Given the description of an element on the screen output the (x, y) to click on. 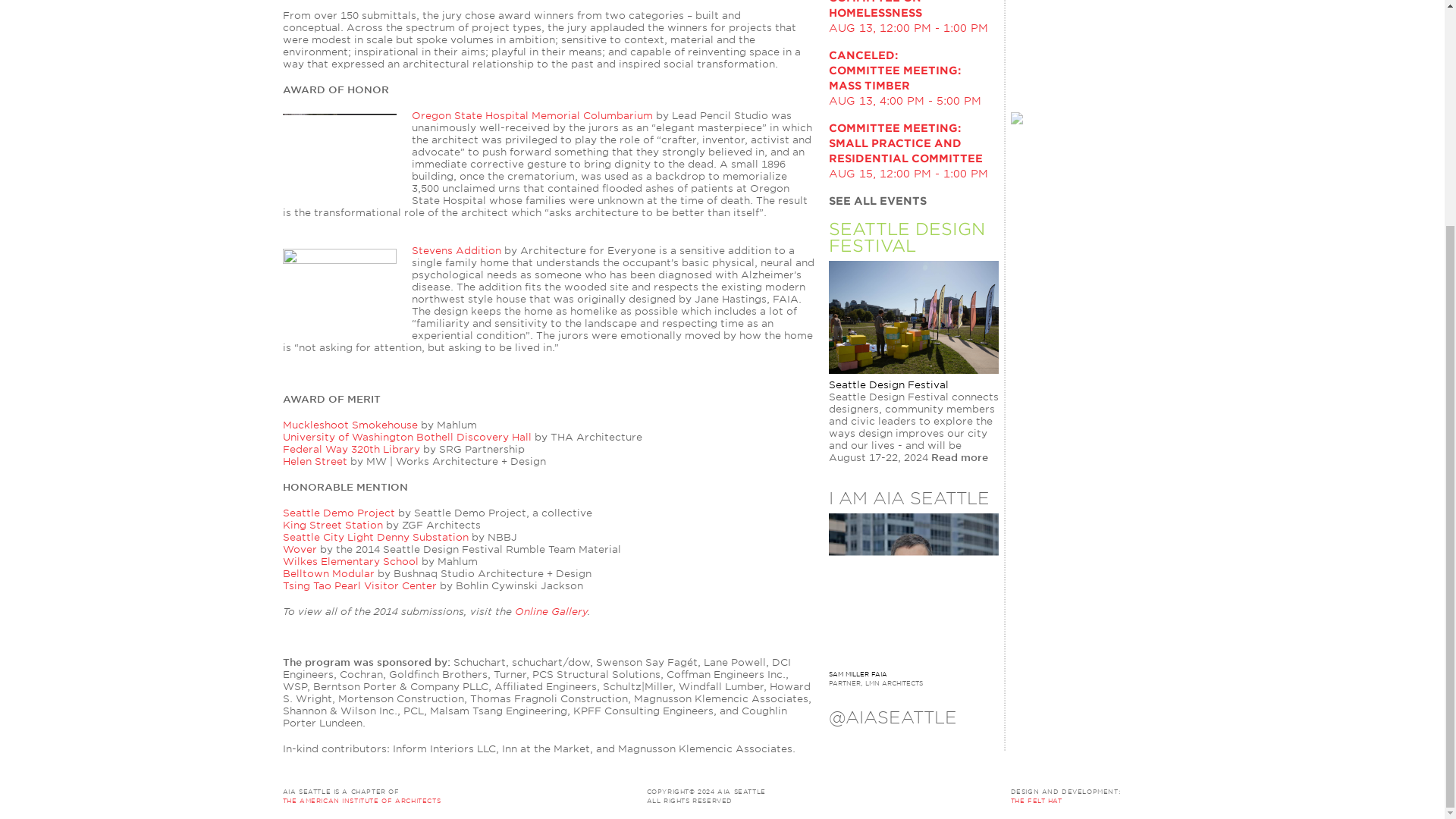
Facebook (885, 741)
LinkedIn (860, 741)
Twitter (836, 741)
AIA Seattle (731, 791)
Instagram (933, 741)
The Felt Hat (1035, 800)
The American Institue of Architects (454, 796)
